Given the description of an element on the screen output the (x, y) to click on. 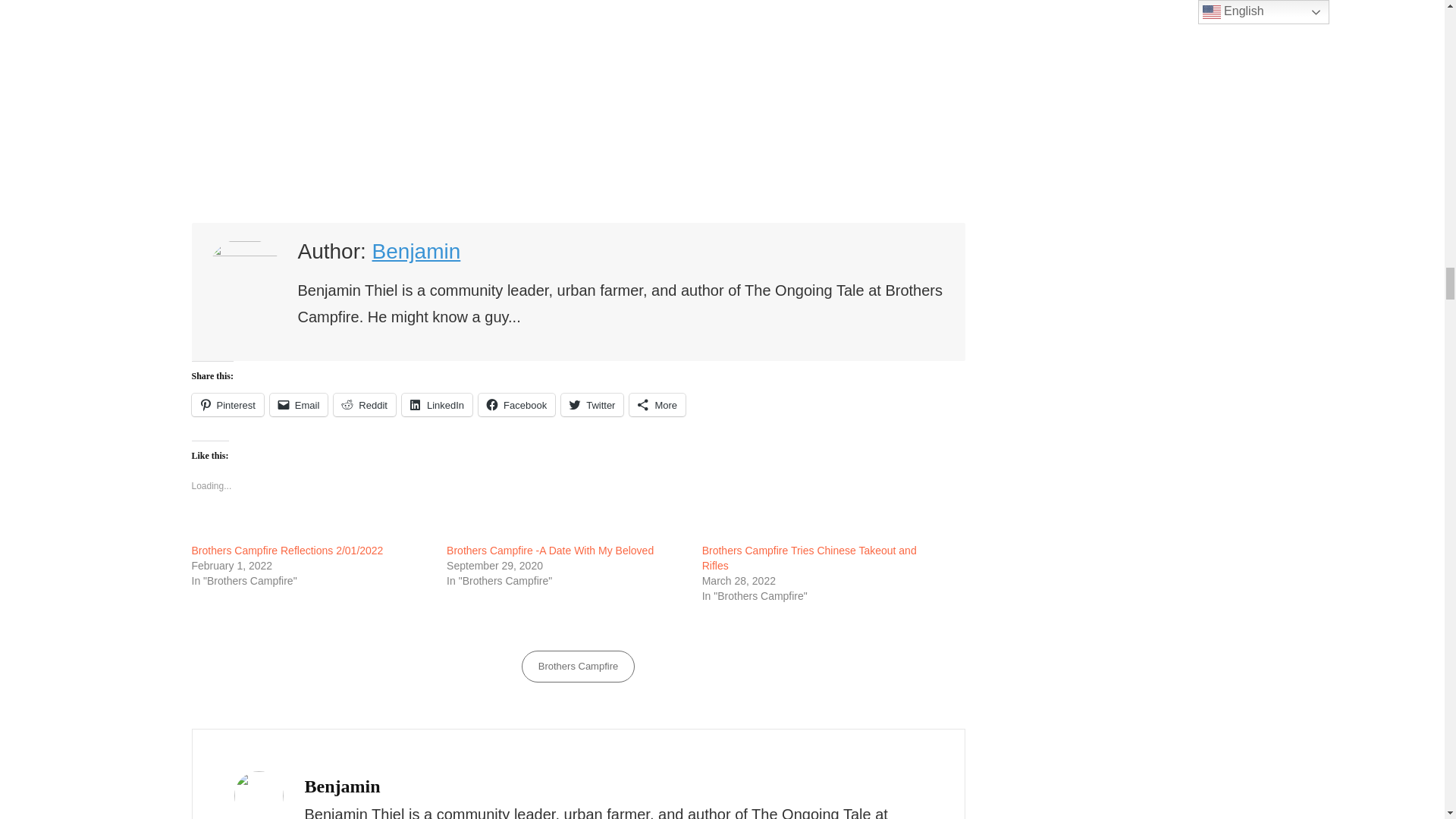
Click to email a link to a friend (299, 404)
Click to share on Reddit (364, 404)
Click to share on Facebook (516, 404)
Brothers Campfire -A Date With My Beloved (549, 550)
Pinterest (226, 404)
Click to share on Pinterest (226, 404)
Facebook (516, 404)
Benjamin (416, 250)
Twitter (591, 404)
LinkedIn (436, 404)
Email (299, 404)
Click to share on LinkedIn (436, 404)
Brothers Campfire Tries Chinese Takeout and Rifles (809, 557)
Reddit (364, 404)
Click to share on Twitter (591, 404)
